Given the description of an element on the screen output the (x, y) to click on. 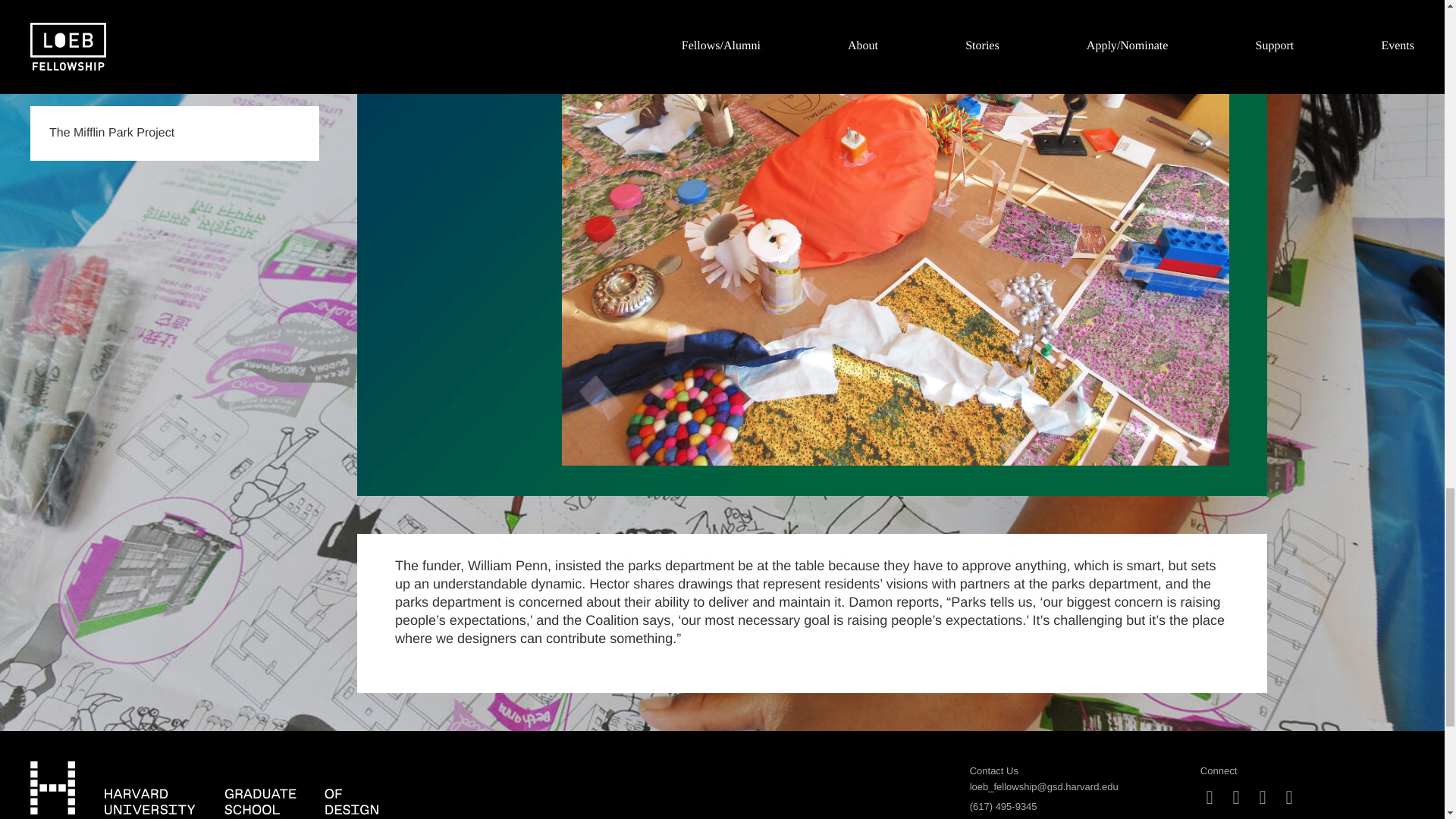
Visit us on Instagram (1209, 797)
Contact Us (993, 770)
Harvard Graduate School of Design (204, 787)
